Given the description of an element on the screen output the (x, y) to click on. 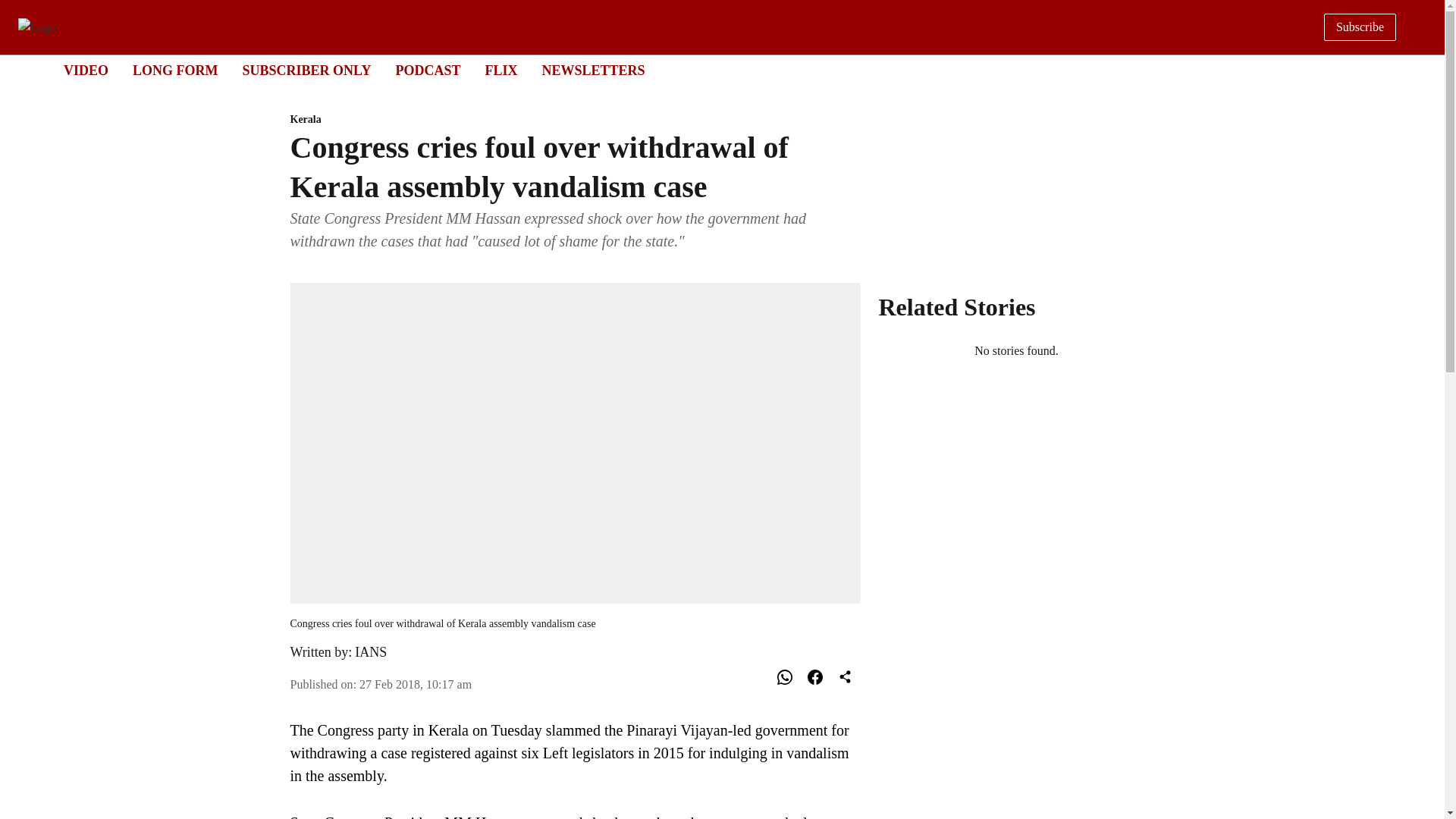
SUBSCRIBER ONLY (307, 70)
VIDEO (85, 70)
Kerala (574, 119)
2018-02-27 10:17 (415, 684)
NEWSLETTERS (593, 70)
FLIX (500, 70)
IANS (371, 652)
PODCAST (707, 70)
LONG FORM (427, 70)
